Given the description of an element on the screen output the (x, y) to click on. 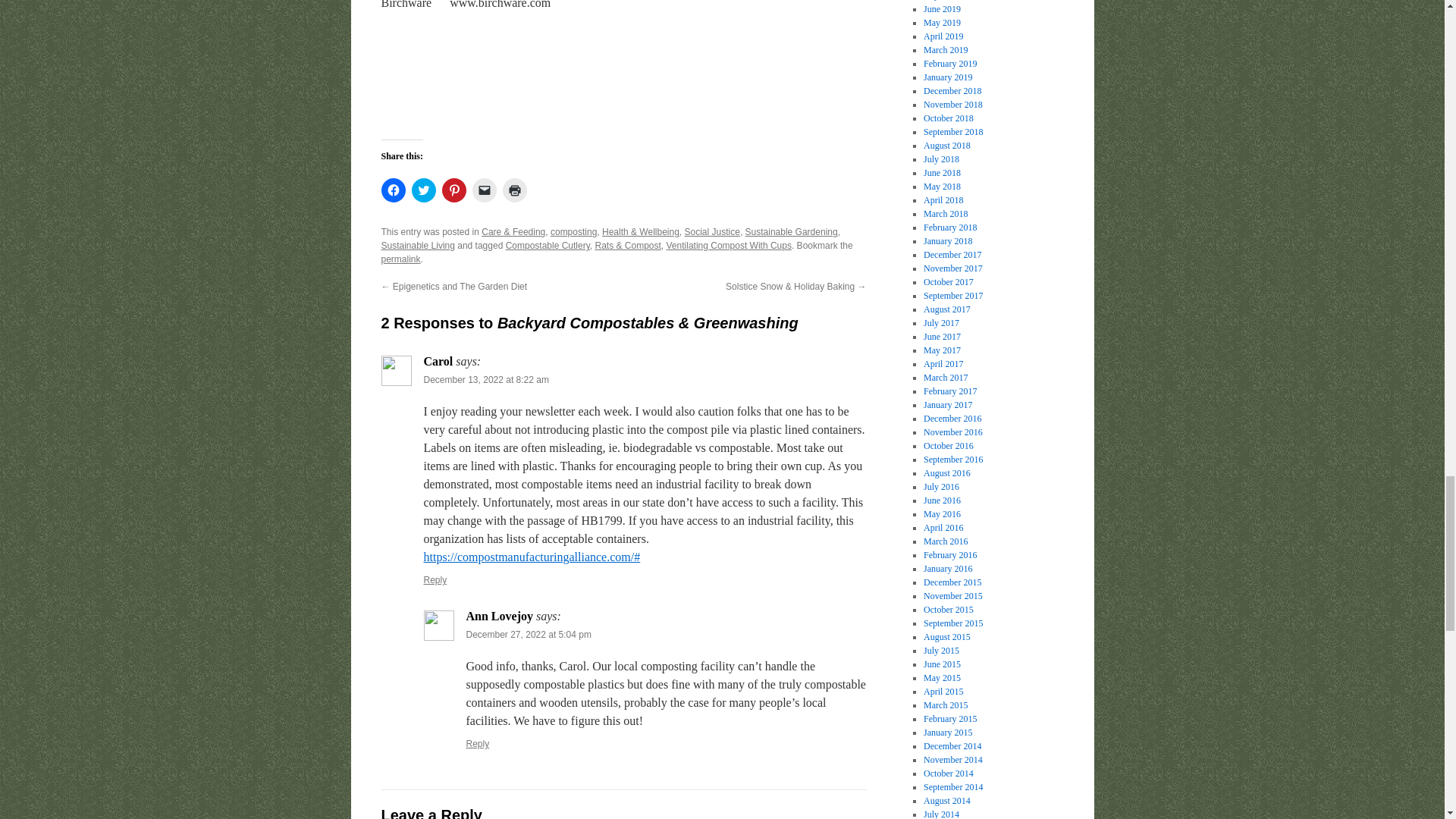
Compostable Cutlery (547, 245)
Click to share on Facebook (392, 190)
Sustainable Gardening (791, 231)
Click to share on Pinterest (453, 190)
Reply (434, 579)
December 13, 2022 at 8:22 am (485, 379)
Ventilating Compost With Cups (729, 245)
composting (573, 231)
Sustainable Living (417, 245)
Reply (477, 743)
